Given the description of an element on the screen output the (x, y) to click on. 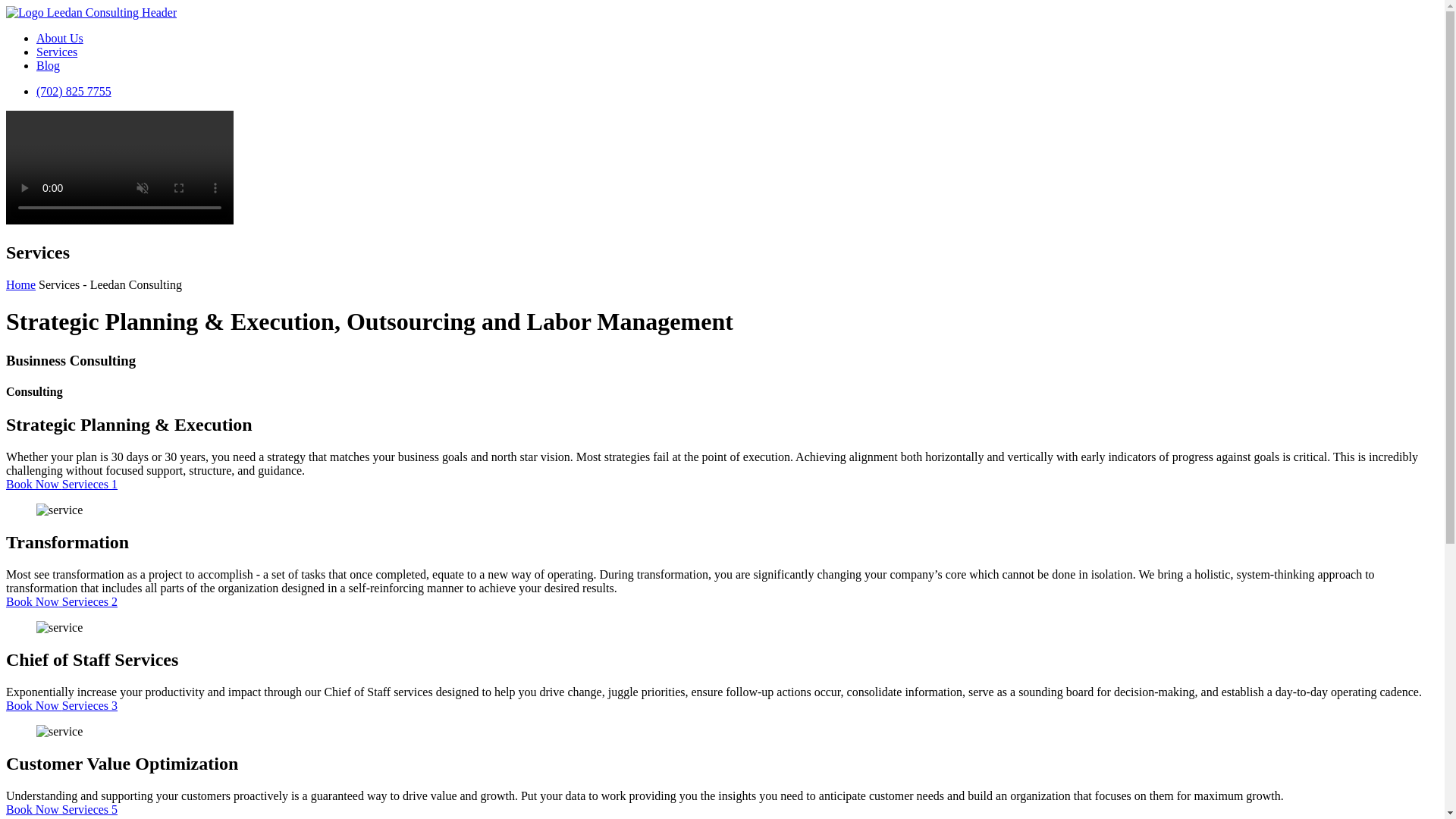
About Us (59, 38)
Book Now Servieces 1 (61, 483)
Book Now Servieces 5 (61, 809)
Home (19, 284)
Book Now Servieces 3 (61, 705)
Book Now Servieces 2 (61, 601)
Blog (47, 65)
Services (56, 51)
